Given the description of an element on the screen output the (x, y) to click on. 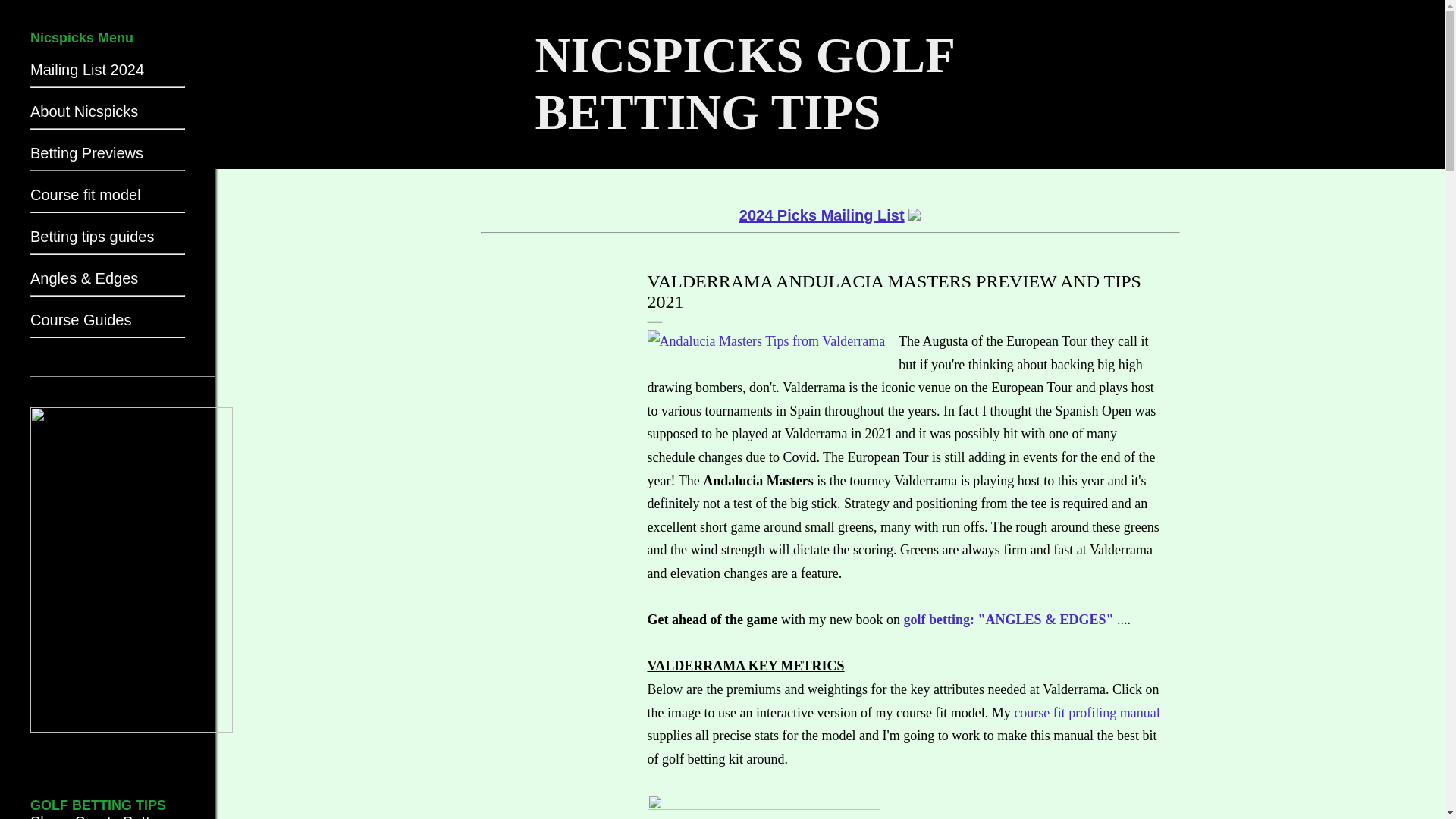
NICSPICKS GOLF BETTING TIPS (744, 83)
Ey' Pablo! (766, 341)
Betting tips guides (107, 241)
Course fit model (107, 199)
Course Guides (107, 325)
2024 Picks Mailing List (829, 215)
About Nicspicks (107, 116)
Betting Previews (107, 157)
Sharp Sports Bettors Blog (100, 816)
course fit profiling manual (1085, 712)
Mailing List 2024 (107, 74)
